Given the description of an element on the screen output the (x, y) to click on. 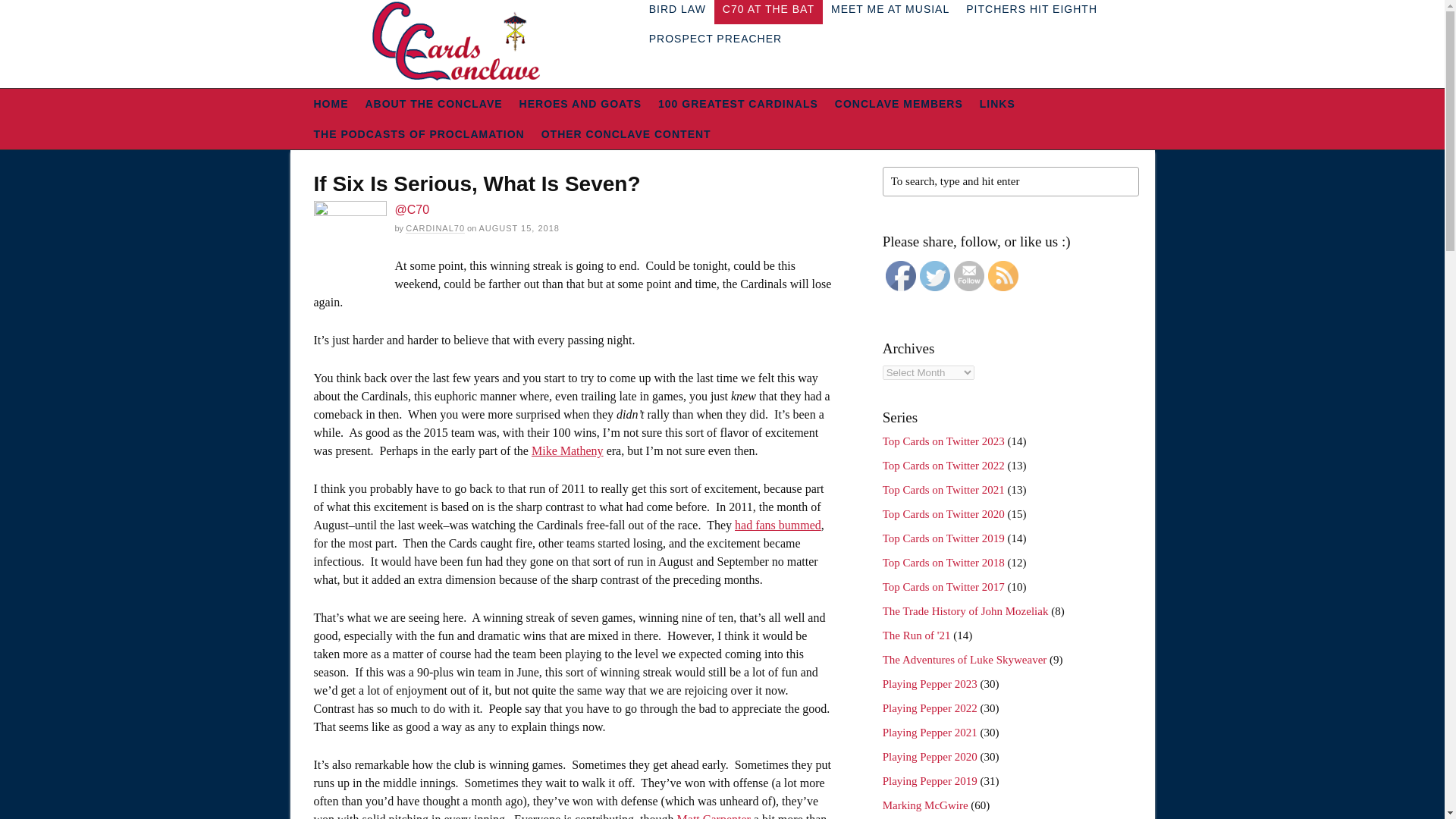
C70 AT THE BAT (768, 12)
To search, type and hit enter (1010, 181)
Mike Matheny (567, 450)
ABOUT THE CONCLAVE (433, 103)
LINKS (997, 103)
RSS (1002, 276)
had fans bummed (778, 524)
PITCHERS HIT EIGHTH (1031, 12)
Follow by Email (968, 276)
OTHER CONCLAVE CONTENT (625, 133)
